Given the description of an element on the screen output the (x, y) to click on. 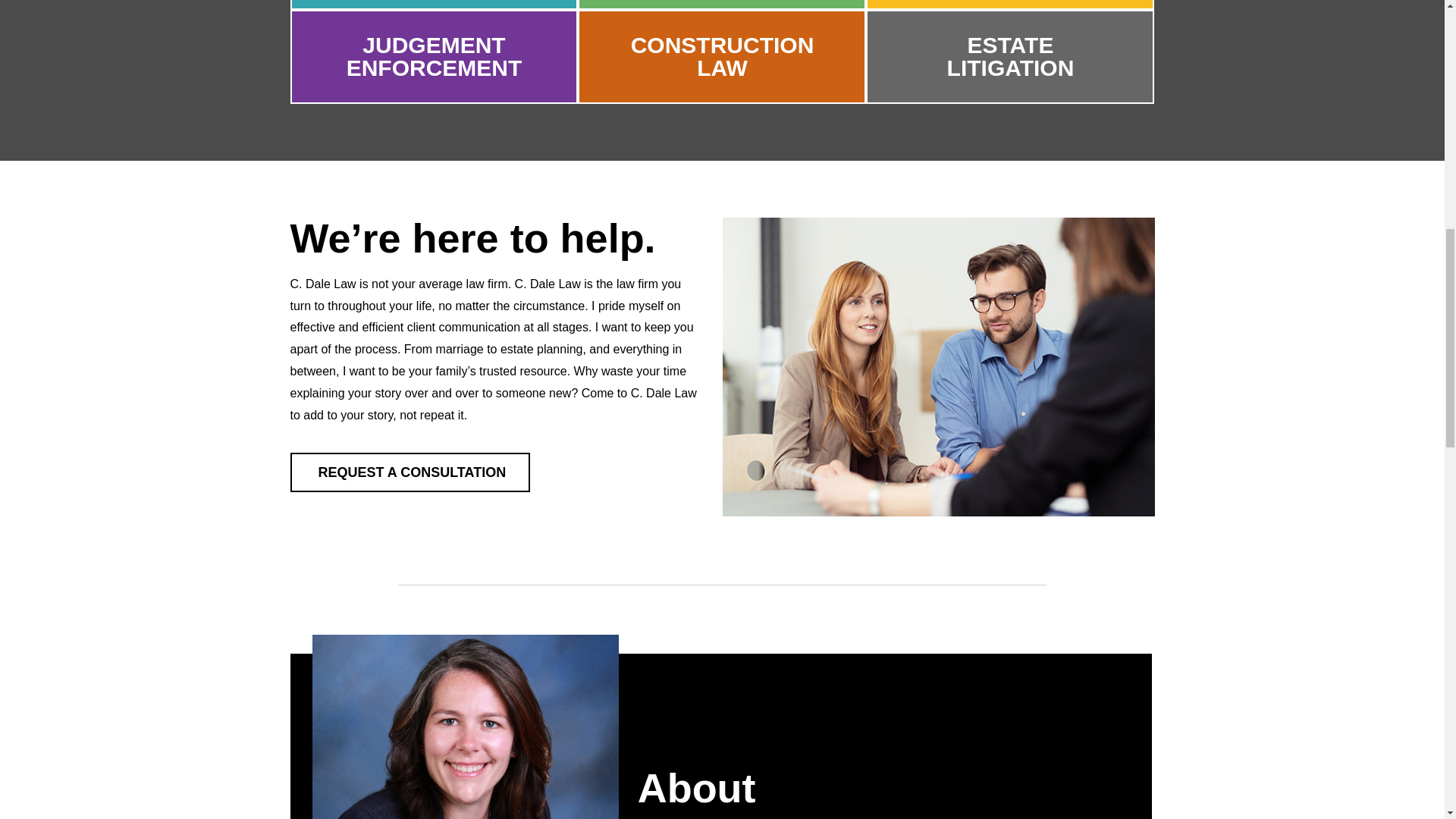
REQUEST A CONSULTATION (433, 4)
